Given the description of an element on the screen output the (x, y) to click on. 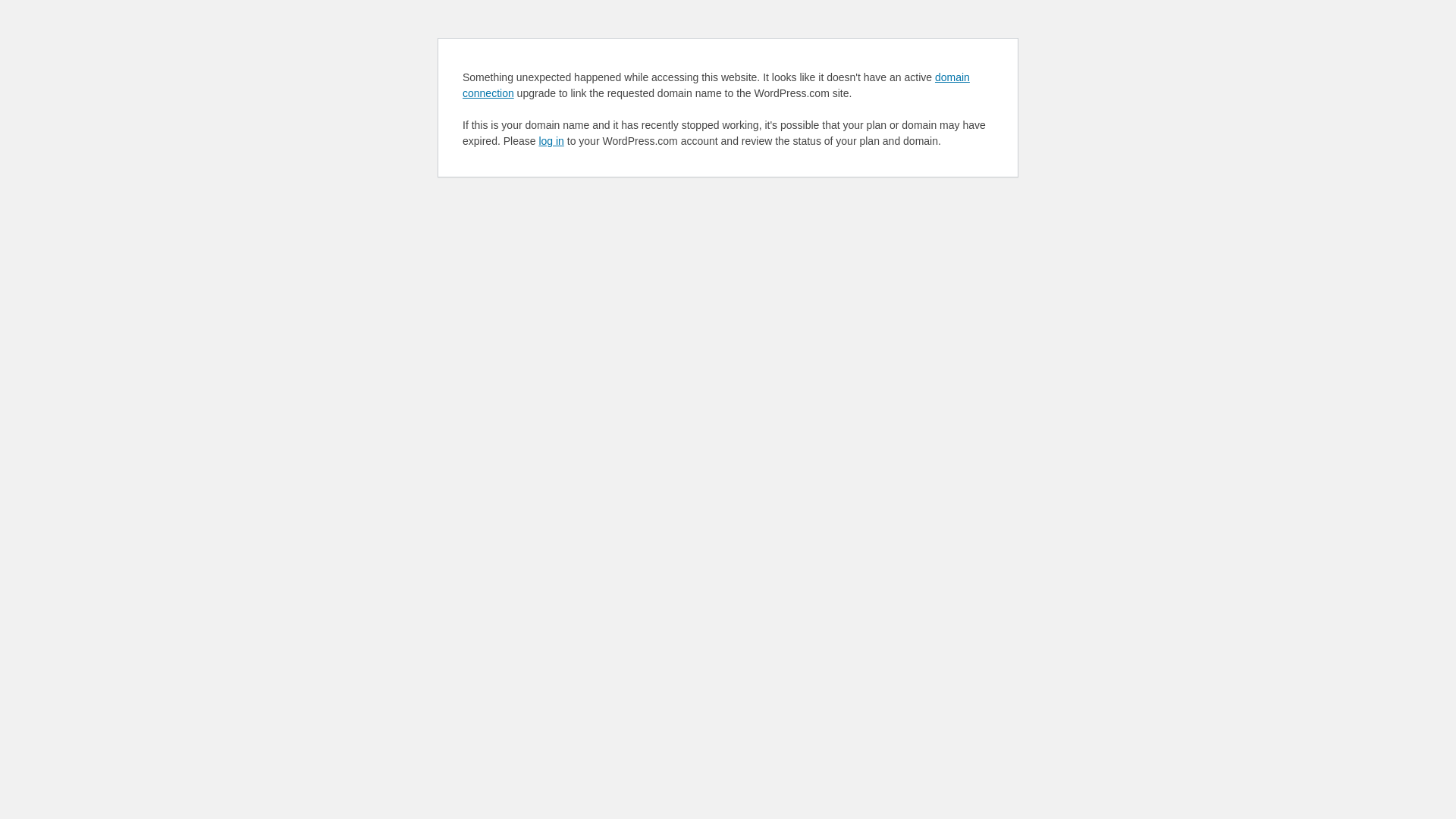
log in Element type: text (550, 140)
domain connection Element type: text (715, 85)
